Given the description of an element on the screen output the (x, y) to click on. 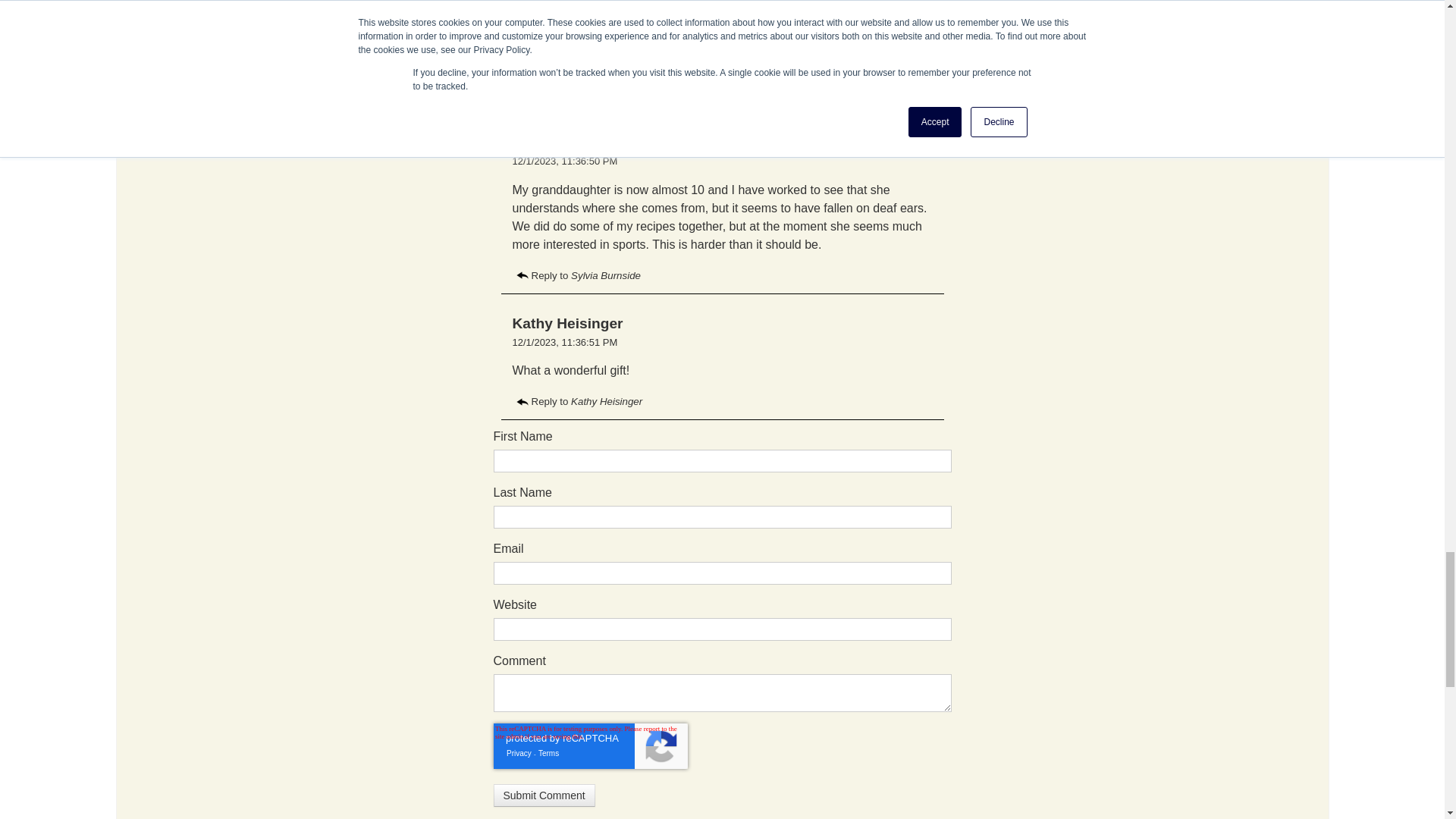
Submit Comment (543, 794)
reCAPTCHA (590, 746)
